Given the description of an element on the screen output the (x, y) to click on. 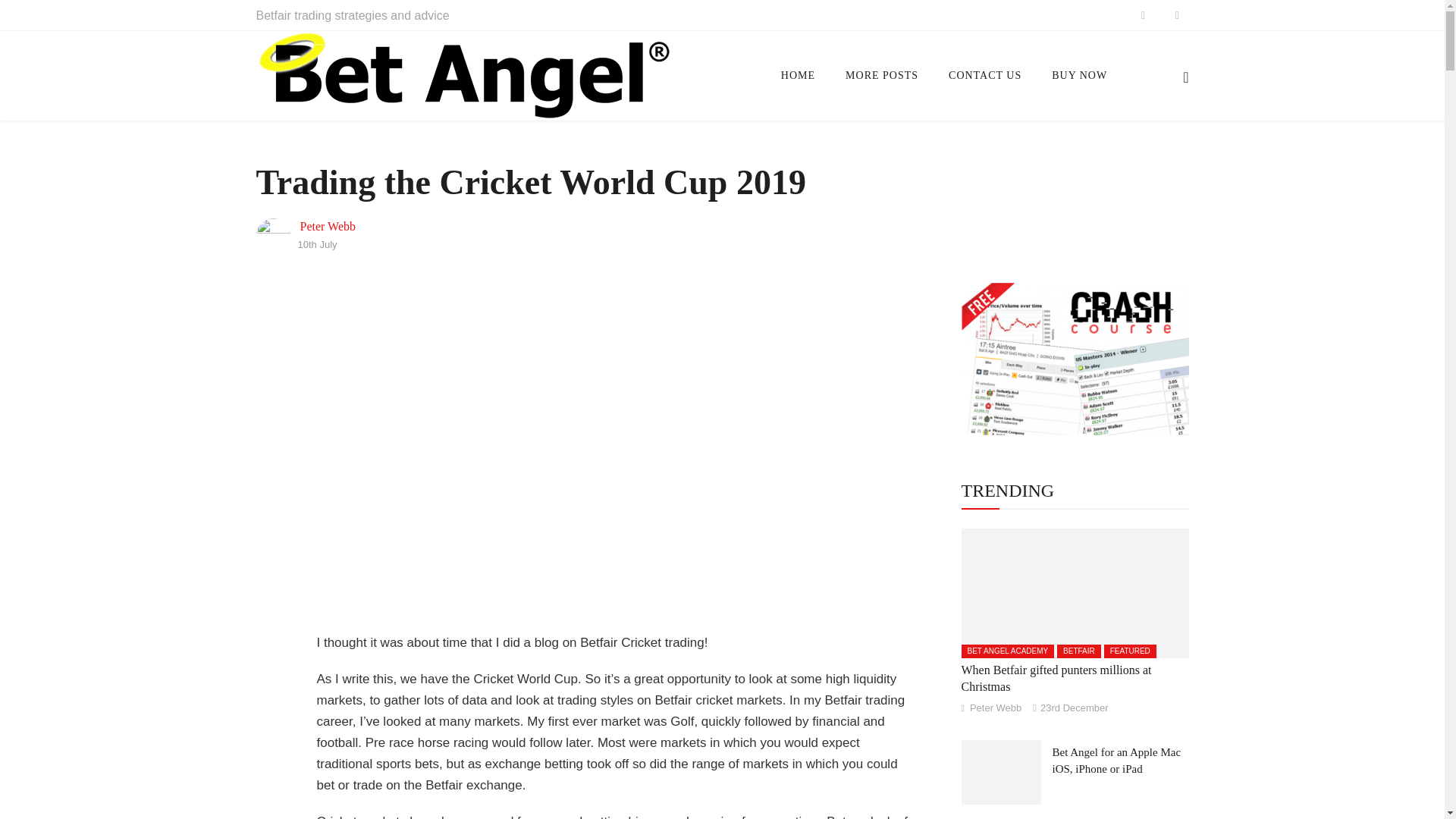
BUY NOW (1079, 75)
BET ANGEL ACADEMY (1007, 651)
ion-social-twitter (1177, 15)
CONTACT US (984, 75)
ion-social-facebook (1142, 15)
HOME (797, 75)
MORE POSTS (881, 75)
Peter Webb (327, 226)
Betfair trading strategies and advice (352, 15)
10th July (316, 244)
